Given the description of an element on the screen output the (x, y) to click on. 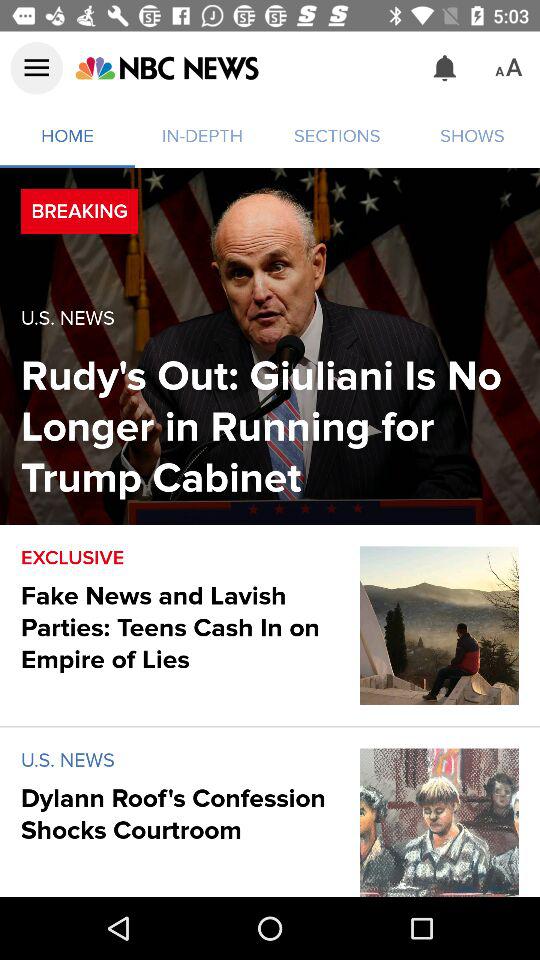
open nbc news front page (166, 68)
